Given the description of an element on the screen output the (x, y) to click on. 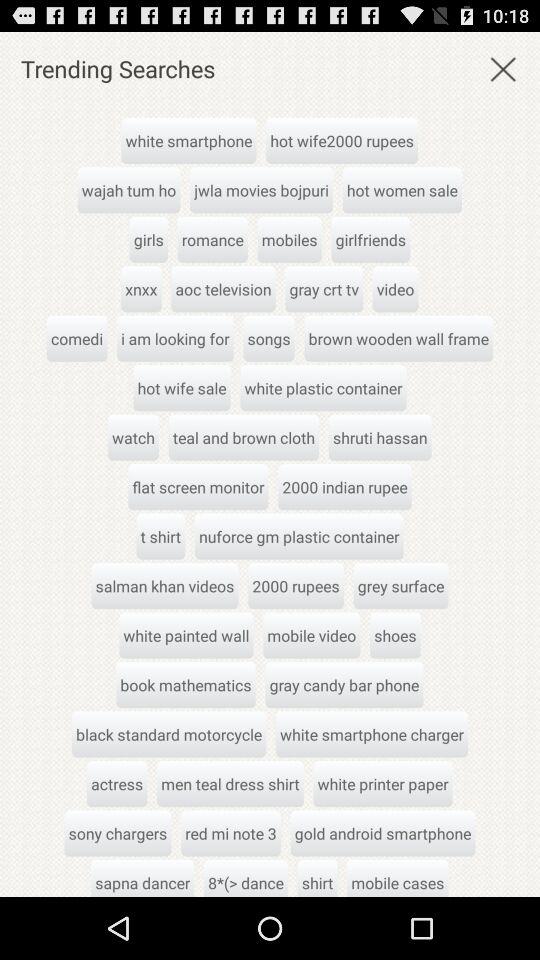
close page (503, 68)
